Given the description of an element on the screen output the (x, y) to click on. 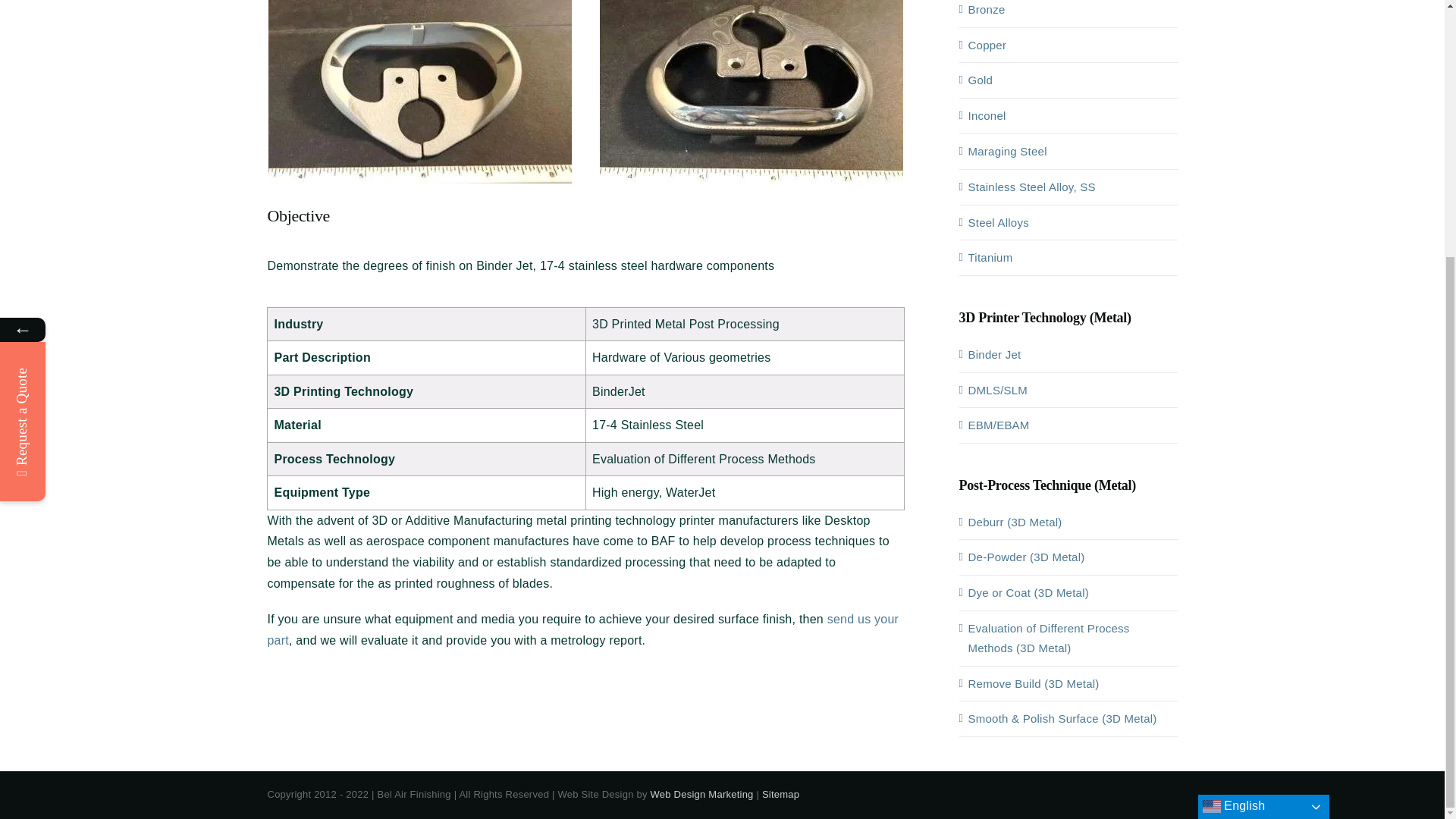
Stainless Steel 3D Printed Hardware before (419, 91)
Stainless Steel 3D Printed Hardware after (585, 99)
